Given the description of an element on the screen output the (x, y) to click on. 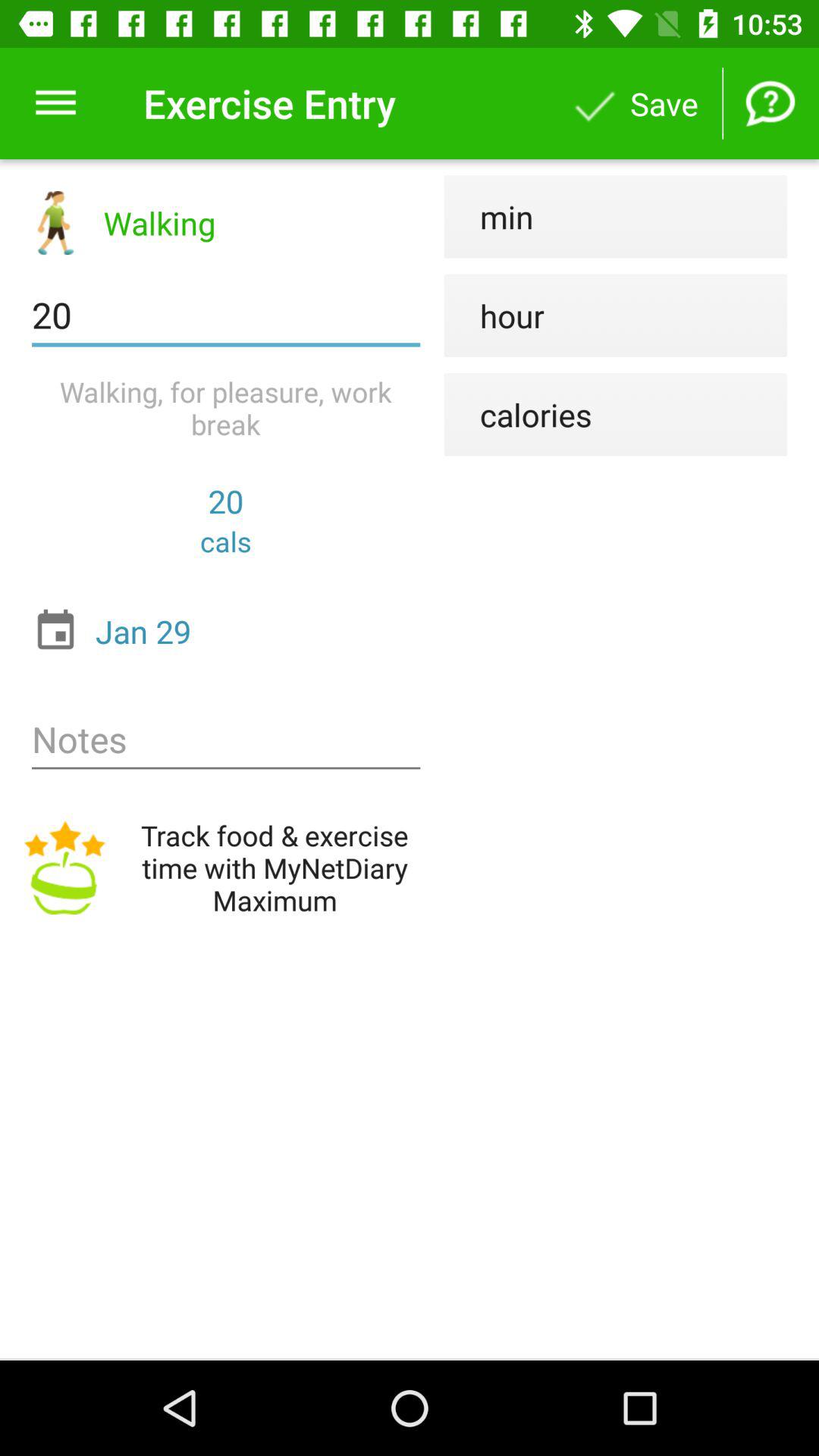
choose the jan 29 item (229, 631)
